Given the description of an element on the screen output the (x, y) to click on. 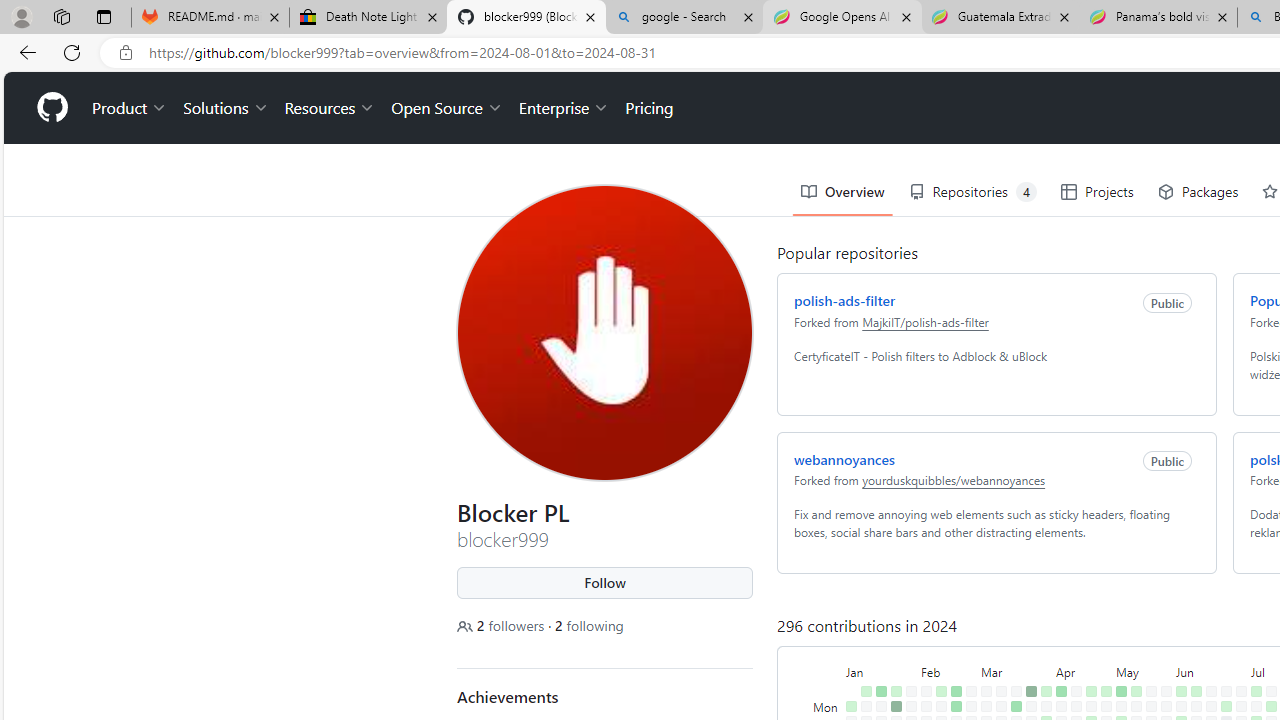
Commentary (1174, 121)
NEWS BRIEFS (674, 677)
Analysis (1078, 121)
Personal Profile (21, 16)
Workspaces (61, 16)
Nearshore Americas (563, 121)
Commentary (1174, 121)
google - Search (683, 17)
Nearshore Americas (563, 121)
